Given the description of an element on the screen output the (x, y) to click on. 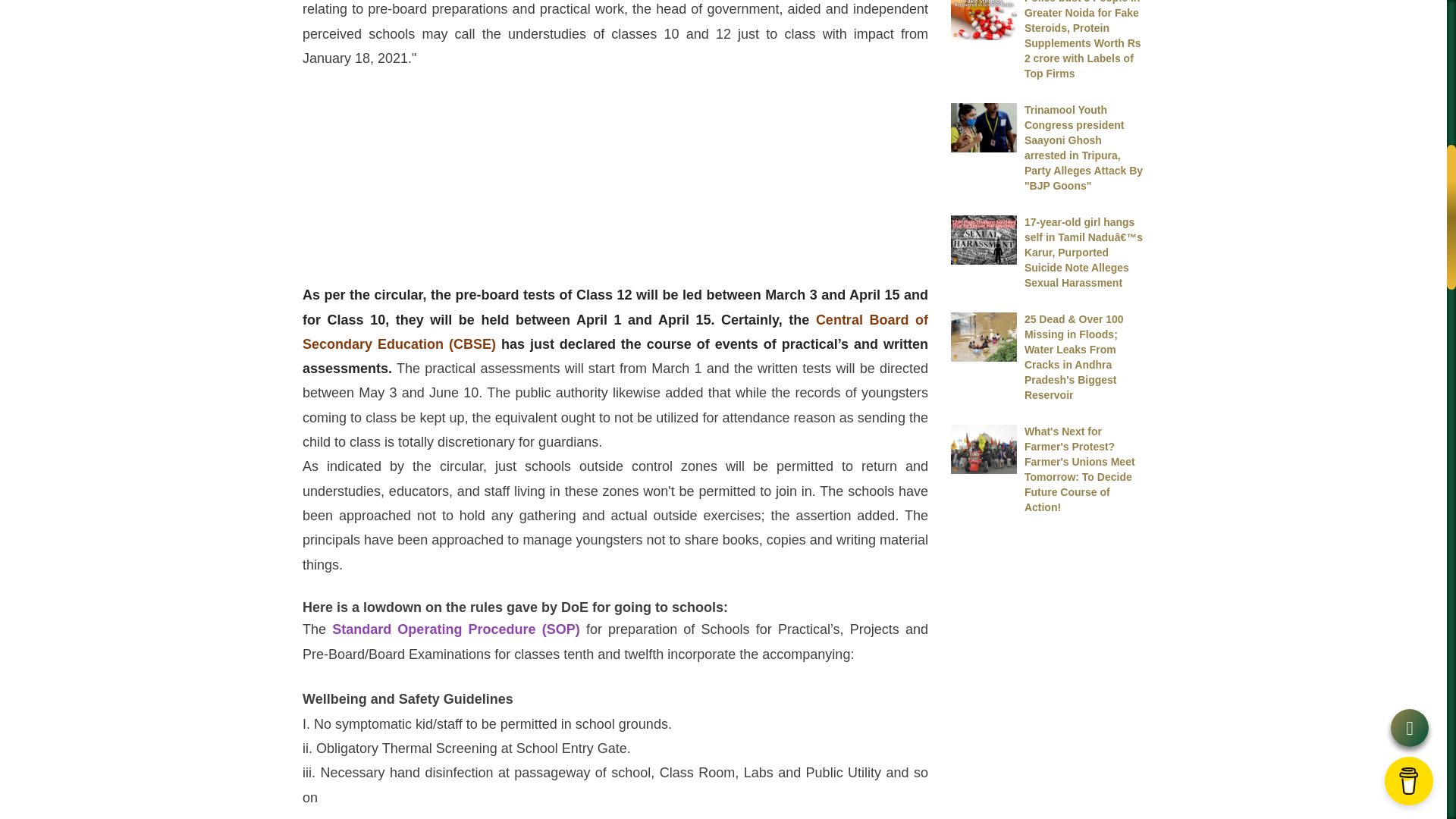
Advertisement (615, 174)
